Given the description of an element on the screen output the (x, y) to click on. 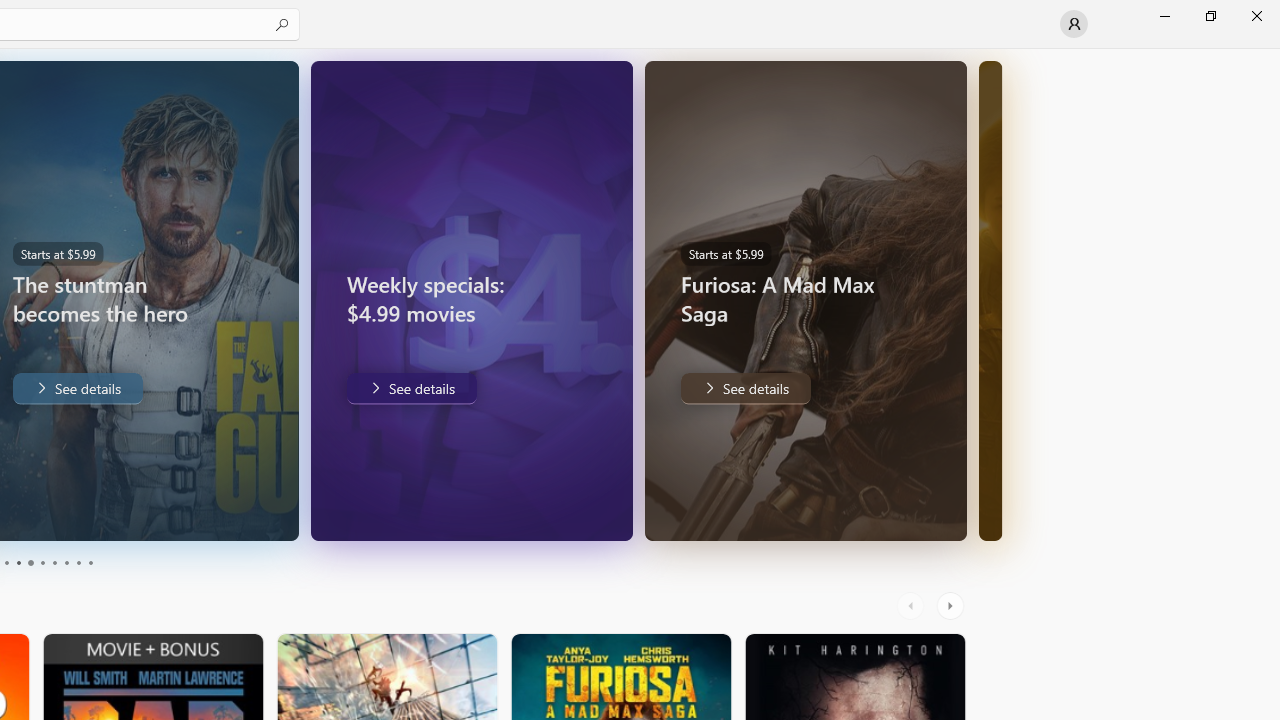
Page 4 (17, 562)
AutomationID: LeftScrollButton (913, 606)
AutomationID: Image (989, 300)
